Given the description of an element on the screen output the (x, y) to click on. 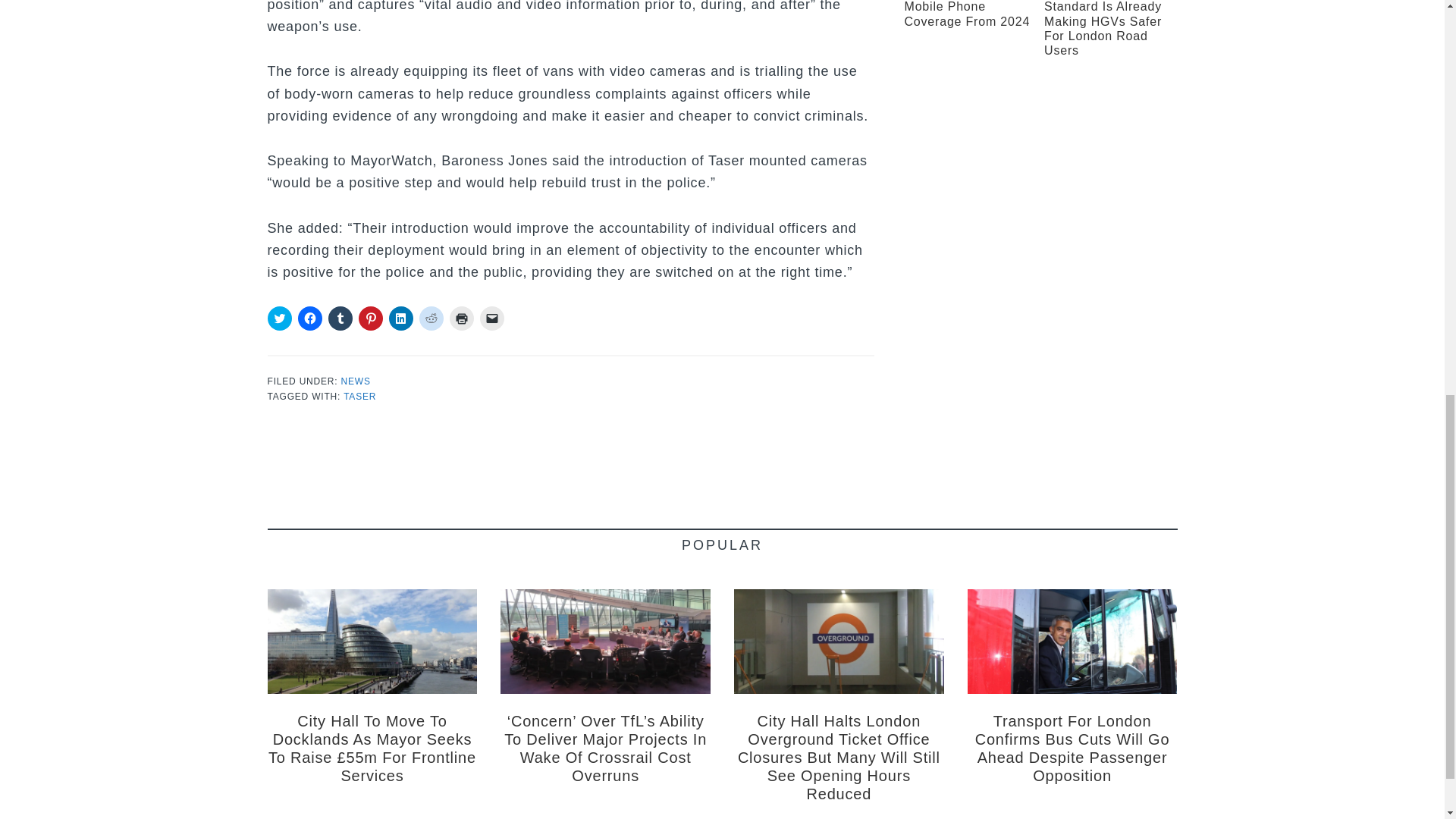
Tube To Get Full Mobile Phone Coverage From 2024 (966, 13)
Click to share on Reddit (430, 318)
Click to share on Twitter (278, 318)
Click to share on Tumblr (339, 318)
Click to email a link to a friend (491, 318)
Click to share on Pinterest (369, 318)
Click to print (460, 318)
